Given the description of an element on the screen output the (x, y) to click on. 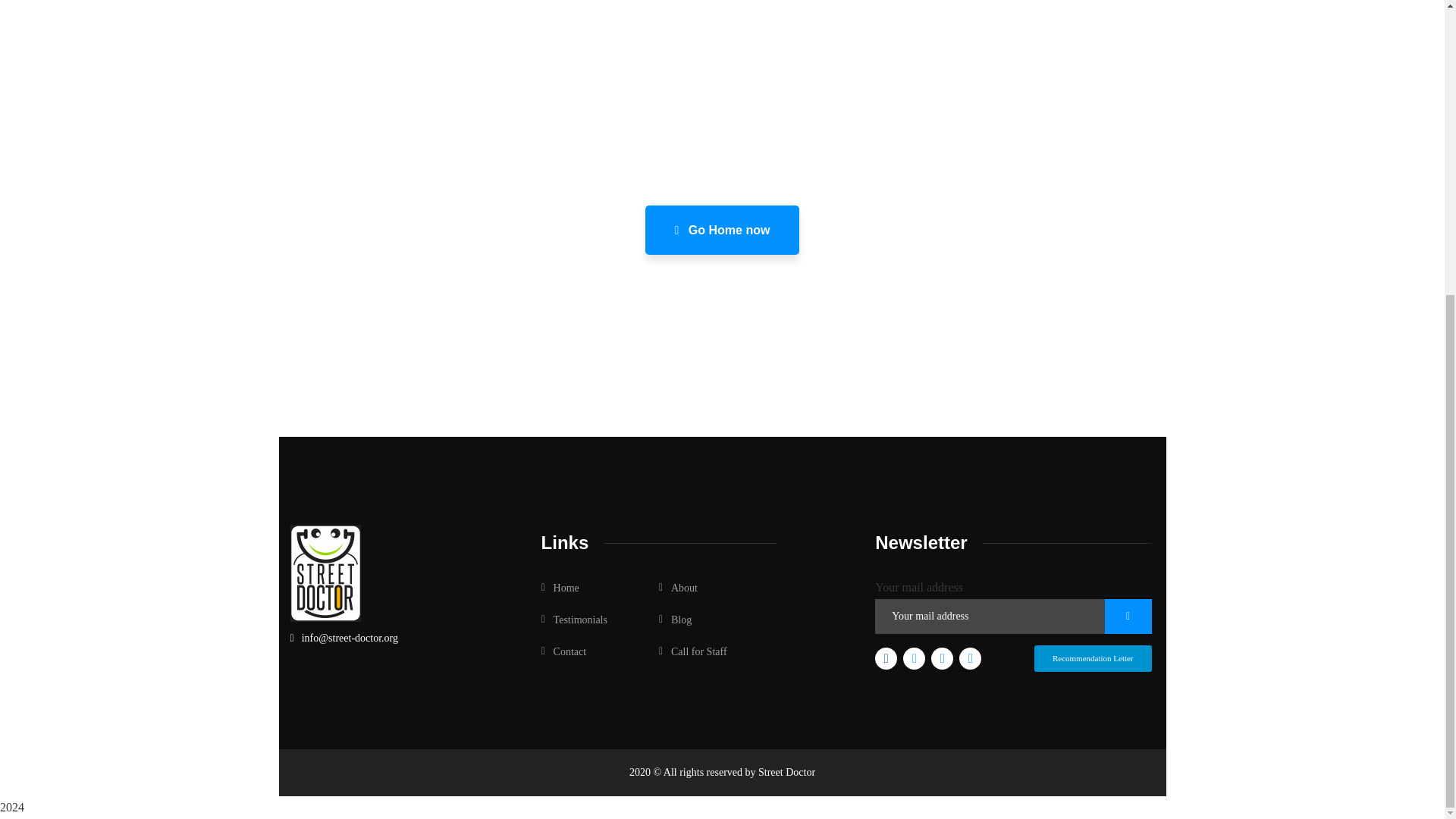
Subscribe (1128, 615)
Contact (563, 651)
Call for Staff (692, 651)
About (678, 587)
Testimonials (574, 619)
Blog (675, 619)
Home (560, 587)
Recommendation Letter (1092, 658)
Go Home now (722, 229)
